Given the description of an element on the screen output the (x, y) to click on. 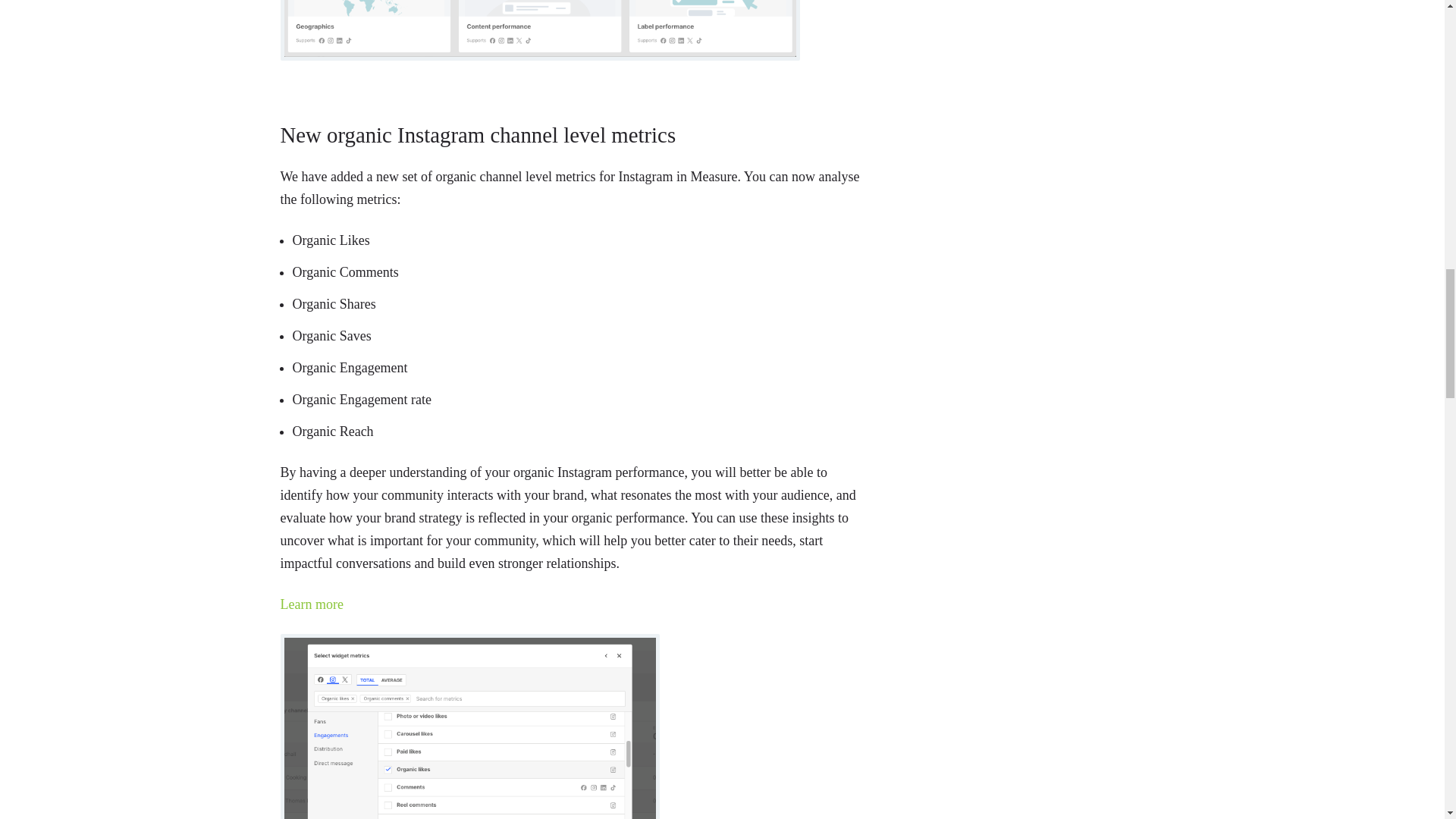
Learn more (312, 604)
